Given the description of an element on the screen output the (x, y) to click on. 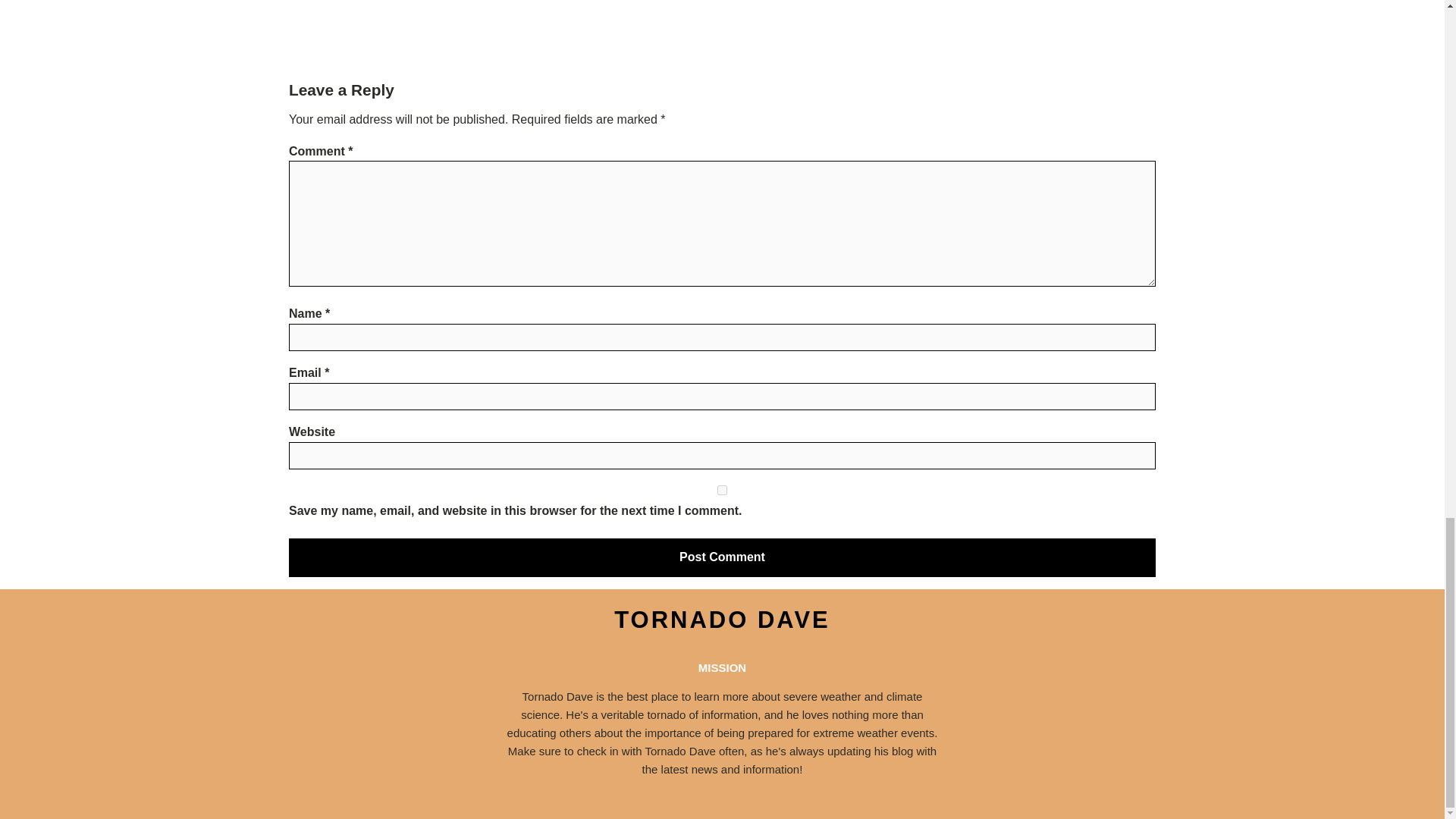
Post Comment (722, 557)
yes (722, 490)
Post Comment (722, 557)
TORNADO DAVE (721, 620)
